Given the description of an element on the screen output the (x, y) to click on. 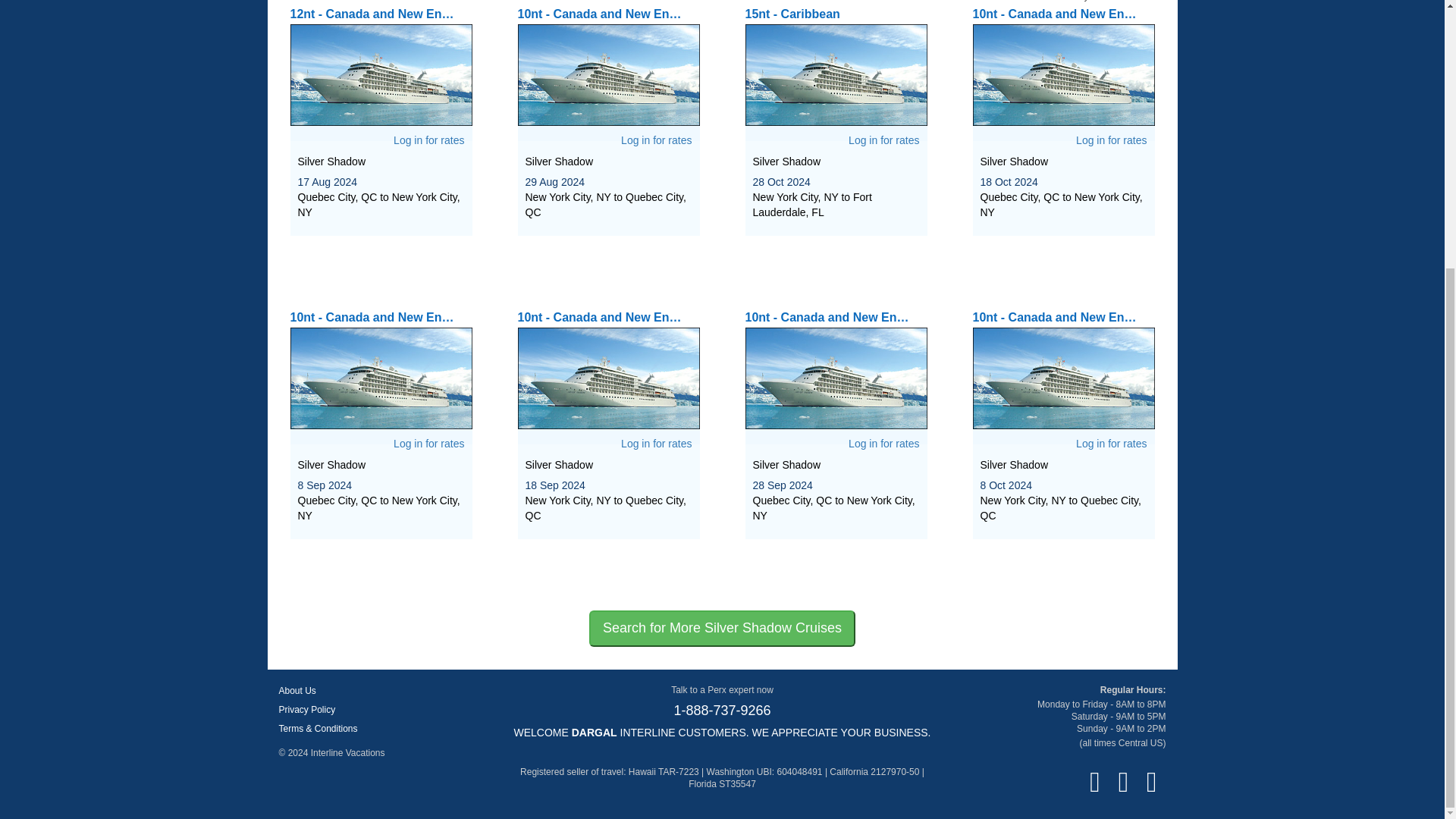
Duration (1149, 0)
15nt - Caribbean (835, 66)
Price (1110, 0)
Search for More Silver Shadow Cruises (722, 628)
